Given the description of an element on the screen output the (x, y) to click on. 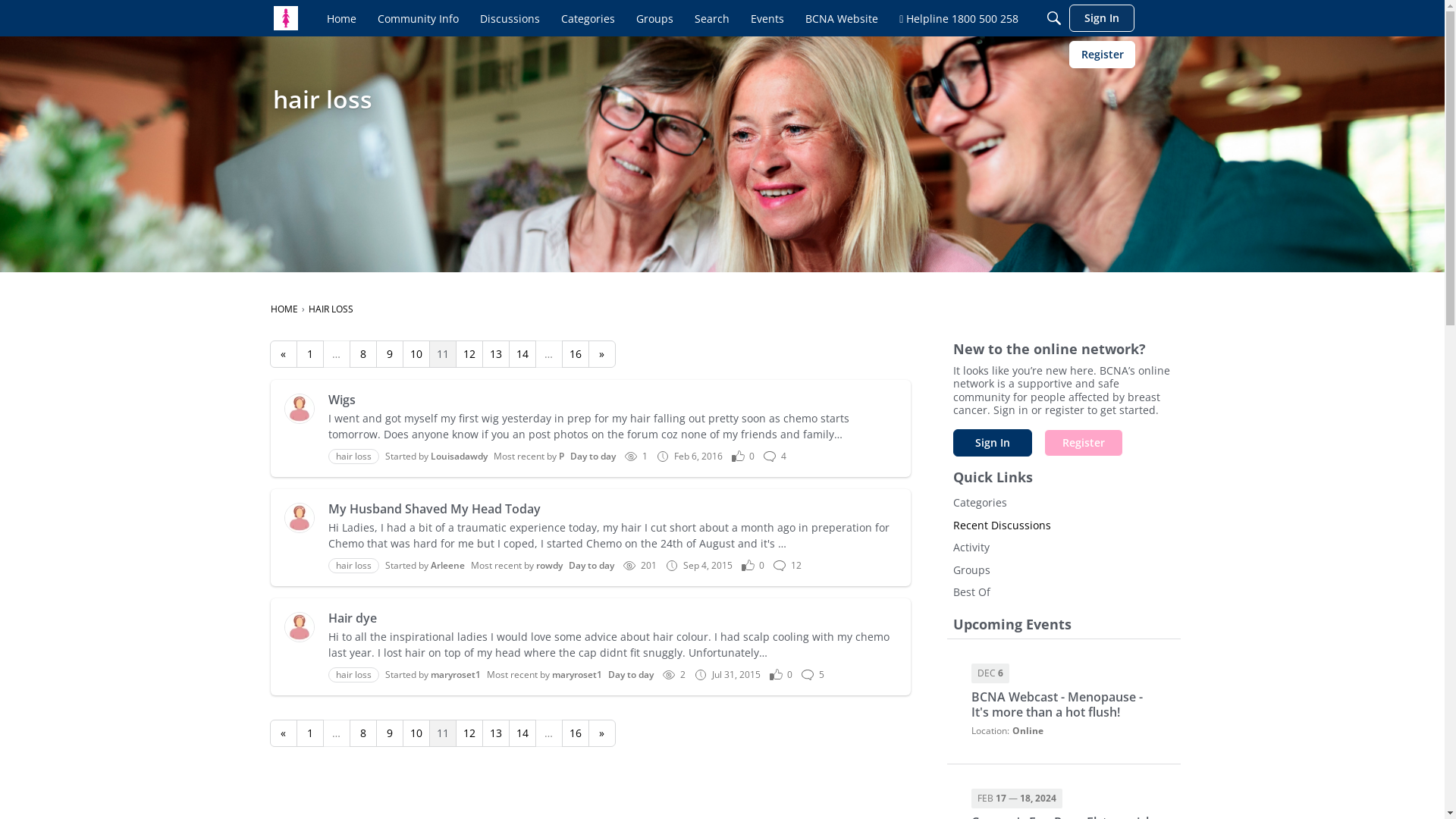
10 Element type: text (415, 732)
Arleene Element type: text (447, 564)
Home Element type: text (341, 17)
Wigs Element type: text (612, 399)
BCNA Website Element type: text (841, 17)
8 Element type: text (362, 732)
HOME Element type: text (283, 308)
Search Element type: hover (1053, 17)
Groups Element type: text (654, 17)
10 Element type: text (415, 353)
My Husband Shaved My Head Today Element type: text (612, 508)
maryroset1 Element type: text (577, 674)
maryroset1 Element type: hover (299, 626)
8 Element type: text (362, 353)
14 Element type: text (521, 732)
hair loss Element type: text (352, 456)
hair loss Element type: text (352, 565)
11 Element type: text (442, 732)
rowdy Element type: text (548, 564)
Register Element type: text (1082, 442)
13 Element type: text (495, 353)
13 Element type: text (495, 732)
12 Element type: text (468, 732)
Events Element type: text (767, 17)
Recent Discussions Element type: text (1062, 525)
9 Element type: text (389, 353)
Arleene Element type: hover (299, 517)
Day to day Element type: text (630, 674)
1 Element type: text (309, 353)
hair loss Element type: text (352, 674)
Discussions Element type: text (509, 17)
Groups Element type: text (1062, 569)
Louisadawdy Element type: text (458, 455)
DEC 6
BCNA Webcast - Menopause - It's more than a hot flush! Element type: text (1062, 691)
P Element type: text (560, 455)
Day to day Element type: text (592, 455)
11 Element type: text (442, 353)
Sign In Element type: text (991, 442)
Register Element type: text (1102, 54)
14 Element type: text (521, 353)
Sign In Element type: text (1101, 17)
Louisadawdy Element type: hover (299, 408)
1 Element type: text (309, 732)
16 Element type: text (574, 732)
Search Element type: text (711, 17)
Hair dye Element type: text (612, 617)
Online Element type: text (1026, 730)
12 Element type: text (468, 353)
HAIR LOSS Element type: text (330, 308)
Day to day Element type: text (591, 564)
maryroset1 Element type: text (455, 674)
Categories Element type: text (1062, 502)
16 Element type: text (574, 353)
Community Info Element type: text (417, 17)
9 Element type: text (389, 732)
Best Of Element type: text (1062, 591)
Activity Element type: text (1062, 547)
Categories Element type: text (588, 17)
